Given the description of an element on the screen output the (x, y) to click on. 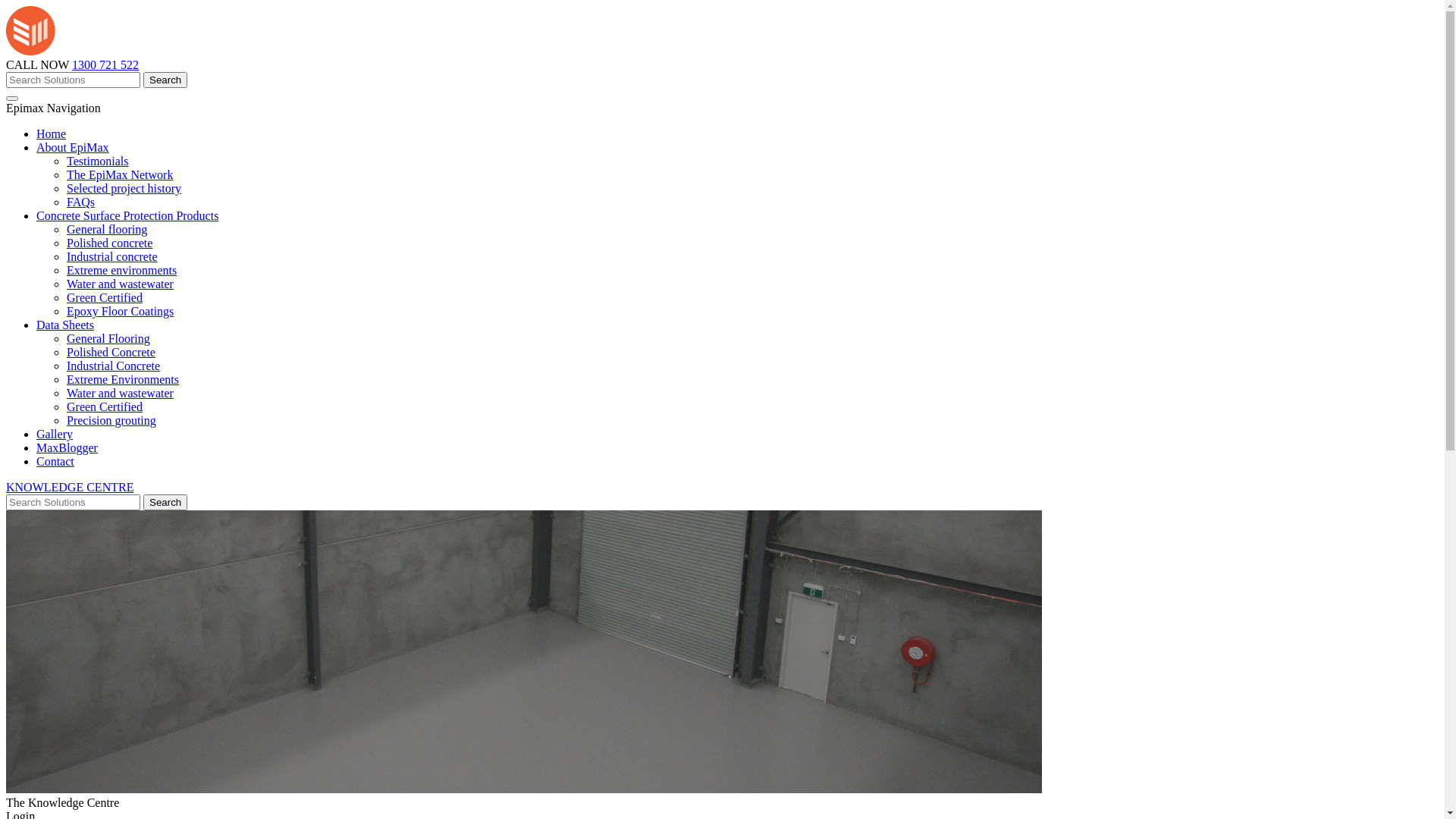
FAQs Element type: text (80, 201)
Industrial concrete Element type: text (111, 256)
Search Element type: text (165, 502)
Green Certified Element type: text (104, 297)
KNOWLEDGE CENTRE Element type: text (69, 486)
Home Element type: text (50, 133)
MaxBlogger Element type: text (66, 447)
General flooring Element type: text (106, 228)
Selected project history Element type: text (123, 188)
Epoxy Floor Coatings Element type: text (119, 310)
Polished Concrete Element type: text (110, 351)
General Flooring Element type: text (108, 338)
Gallery Element type: text (54, 433)
Logo Element type: hover (110, 50)
1300 721 522 Element type: text (105, 64)
Industrial Concrete Element type: text (113, 365)
Contact Element type: text (55, 461)
Concrete Surface Protection Products Element type: text (127, 215)
Precision grouting Element type: text (111, 420)
Testimonials Element type: text (97, 160)
Water and wastewater Element type: text (119, 392)
Extreme Environments Element type: text (122, 379)
Extreme environments Element type: text (121, 269)
Data Sheets Element type: text (65, 324)
The EpiMax Network Element type: text (119, 174)
Search Element type: text (165, 79)
About EpiMax Element type: text (72, 147)
Water and wastewater Element type: text (119, 283)
Polished concrete Element type: text (109, 242)
Green Certified Element type: text (104, 406)
